Given the description of an element on the screen output the (x, y) to click on. 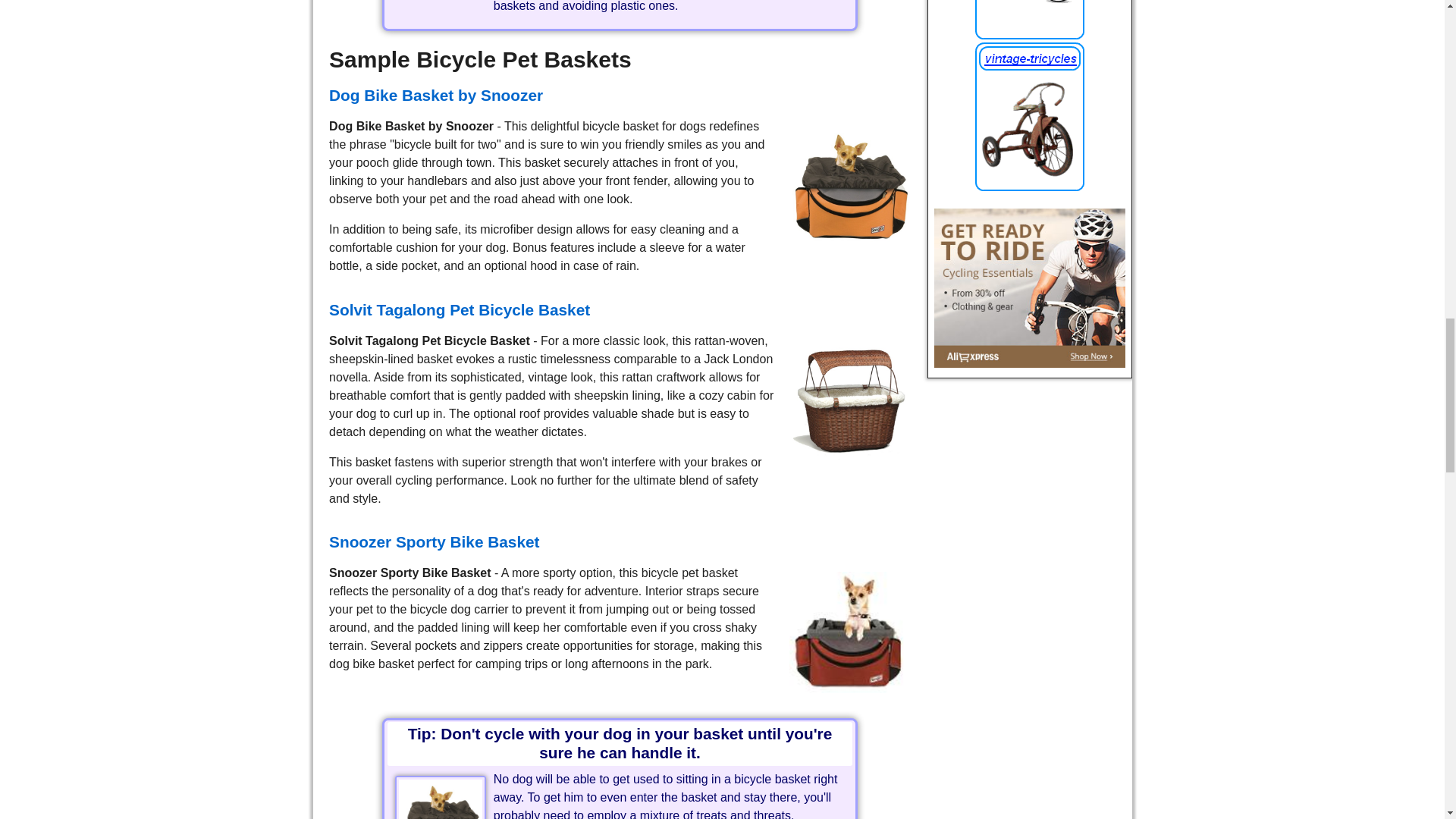
Dog Bike Basket (850, 631)
Dog Bike Basket (850, 400)
Dog Bike Basket (439, 799)
Dog Bike Basket (850, 185)
